Given the description of an element on the screen output the (x, y) to click on. 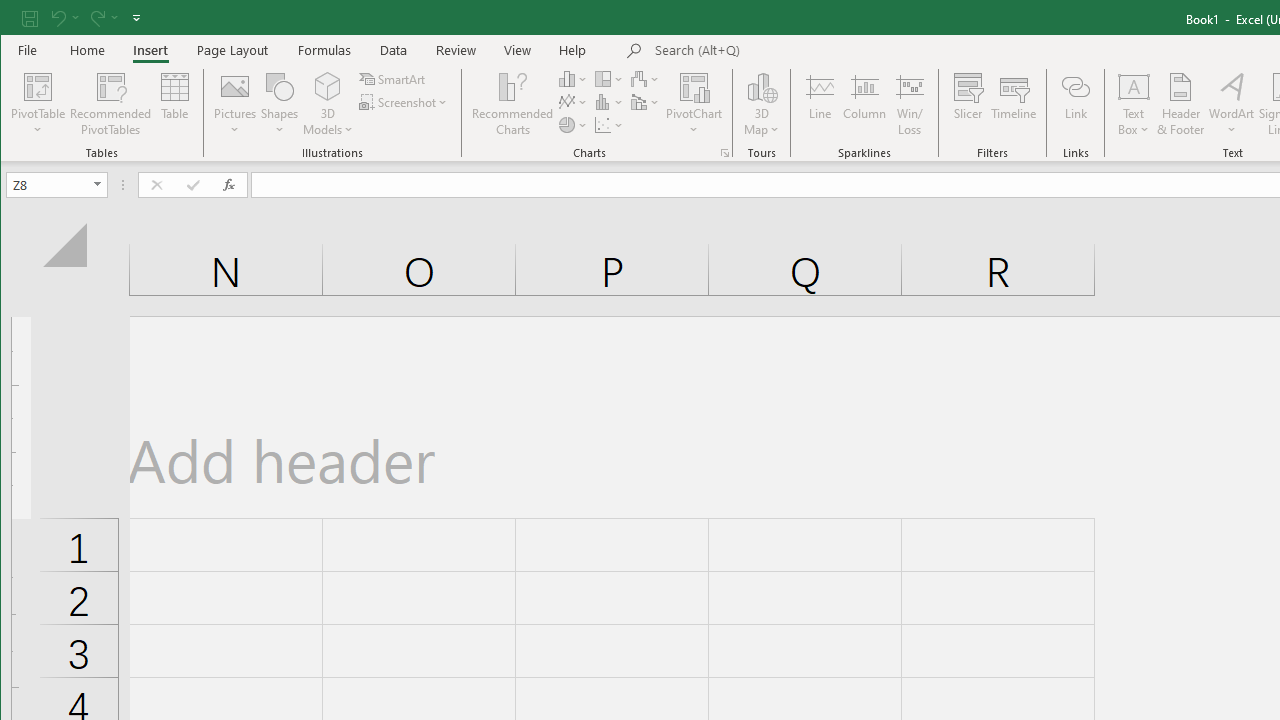
3D Map (762, 104)
Column (864, 104)
Insert Waterfall, Funnel, Stock, Surface, or Radar Chart (646, 78)
Pictures (235, 104)
PivotChart (694, 86)
PivotTable (37, 86)
Text Box (1133, 104)
Recommended Charts (724, 152)
Insert Statistic Chart (609, 101)
Slicer... (968, 104)
Insert Scatter (X, Y) or Bubble Chart (609, 124)
Insert Pie or Doughnut Chart (573, 124)
